Given the description of an element on the screen output the (x, y) to click on. 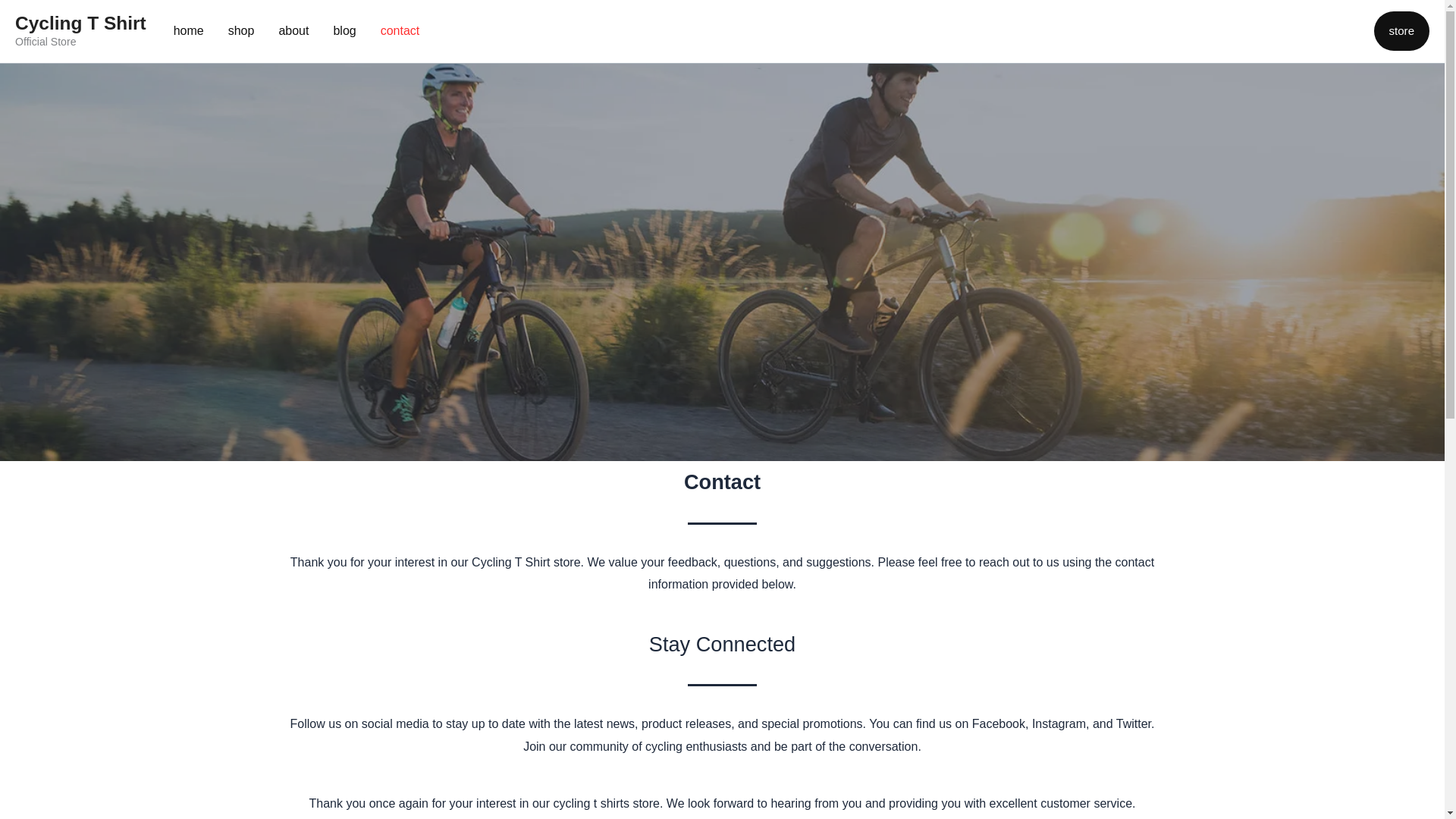
contact (400, 30)
store (1401, 30)
home (188, 30)
about (293, 30)
Cycling T Shirt (80, 23)
